Given the description of an element on the screen output the (x, y) to click on. 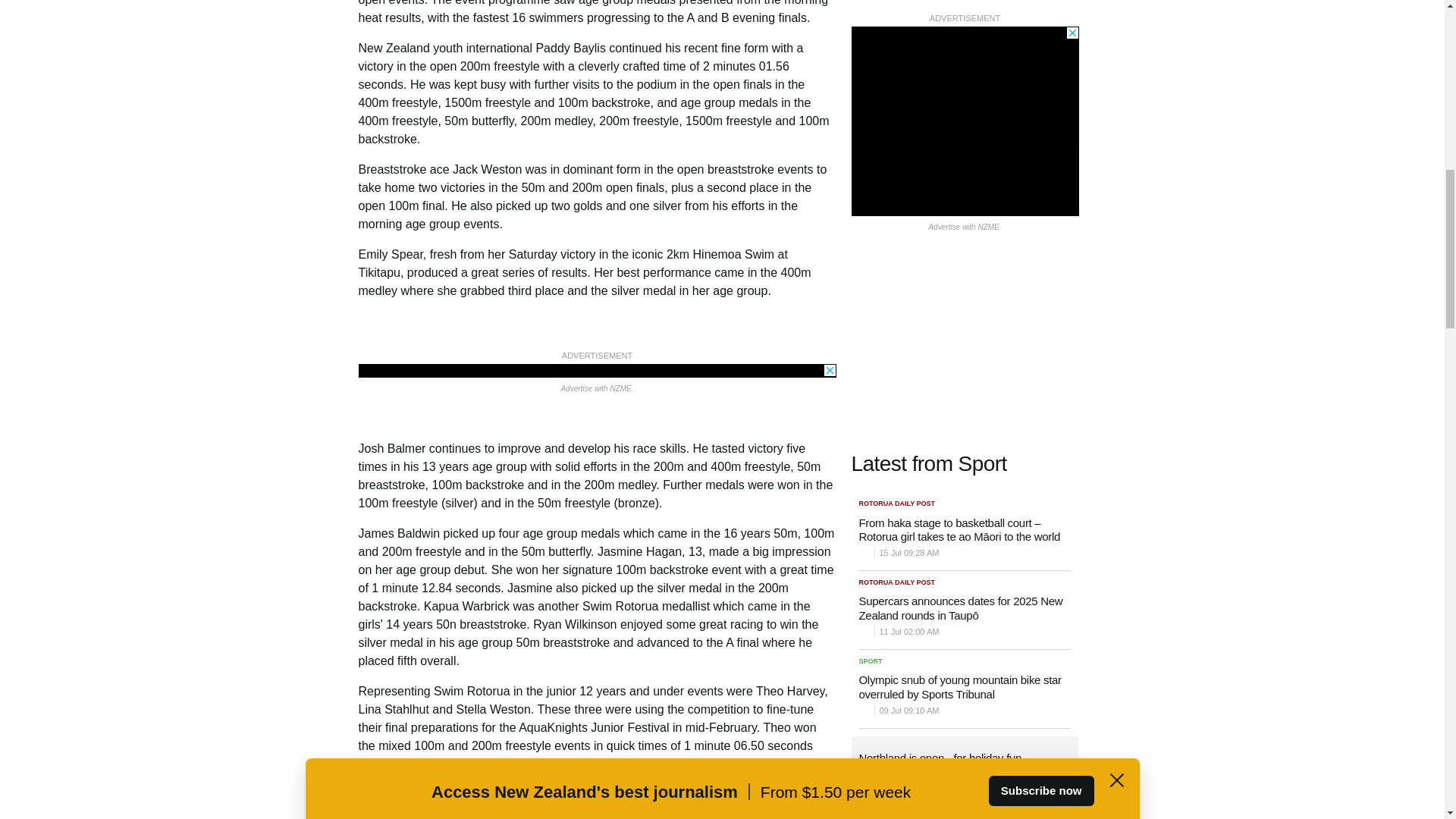
3rd party ad content (596, 370)
